Given the description of an element on the screen output the (x, y) to click on. 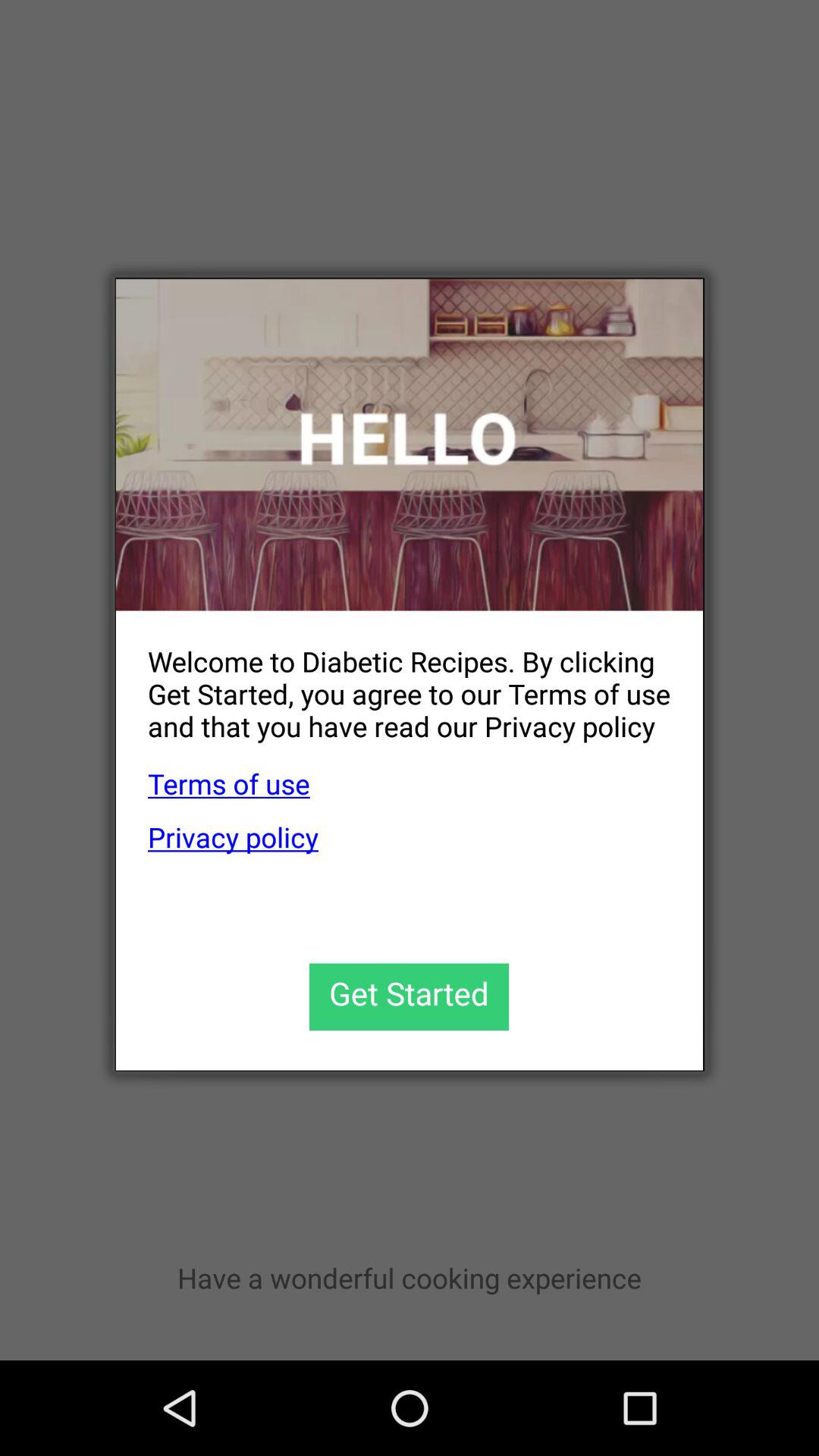
launch icon at the top (409, 444)
